Given the description of an element on the screen output the (x, y) to click on. 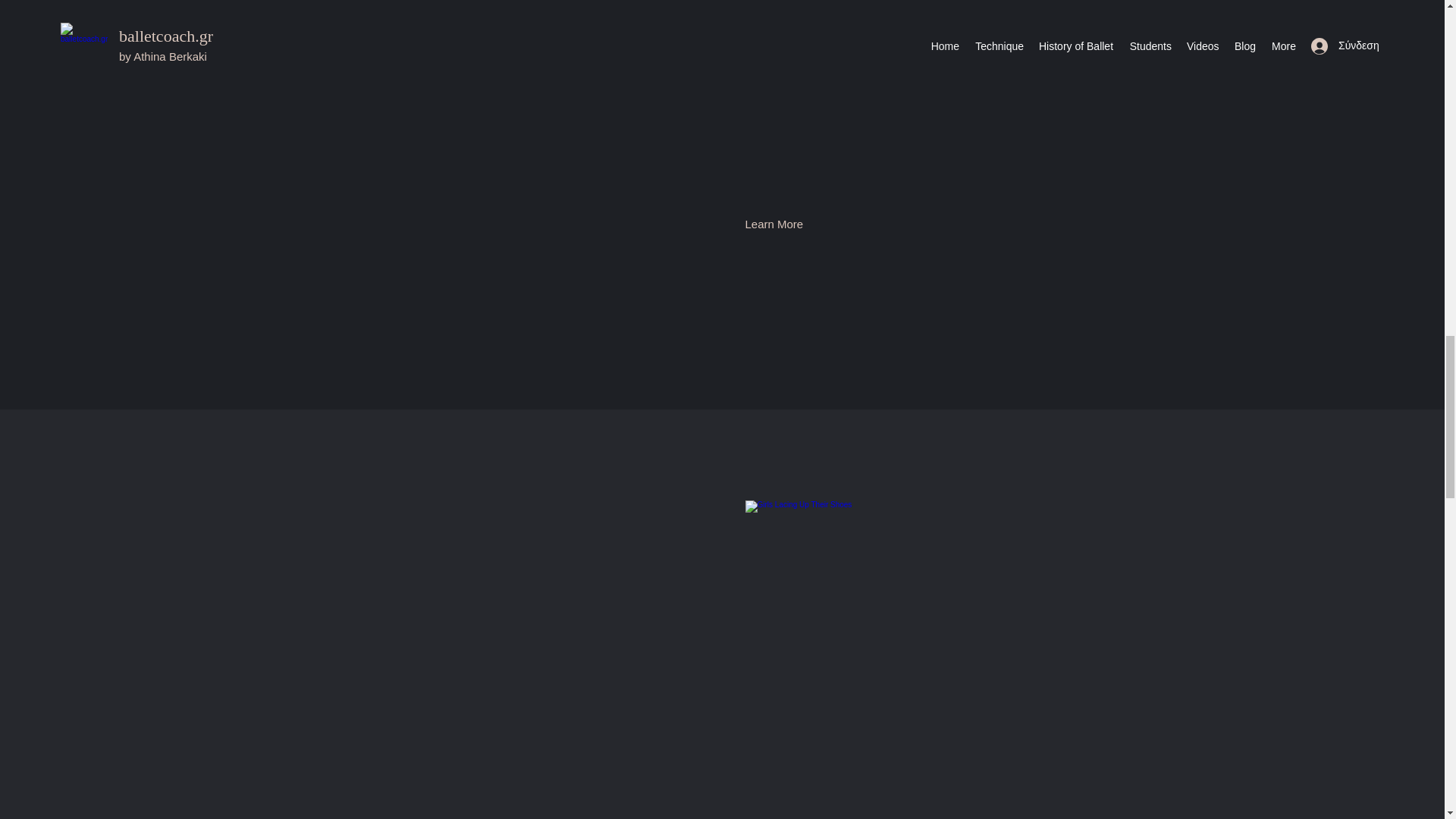
Learn More (773, 223)
